Given the description of an element on the screen output the (x, y) to click on. 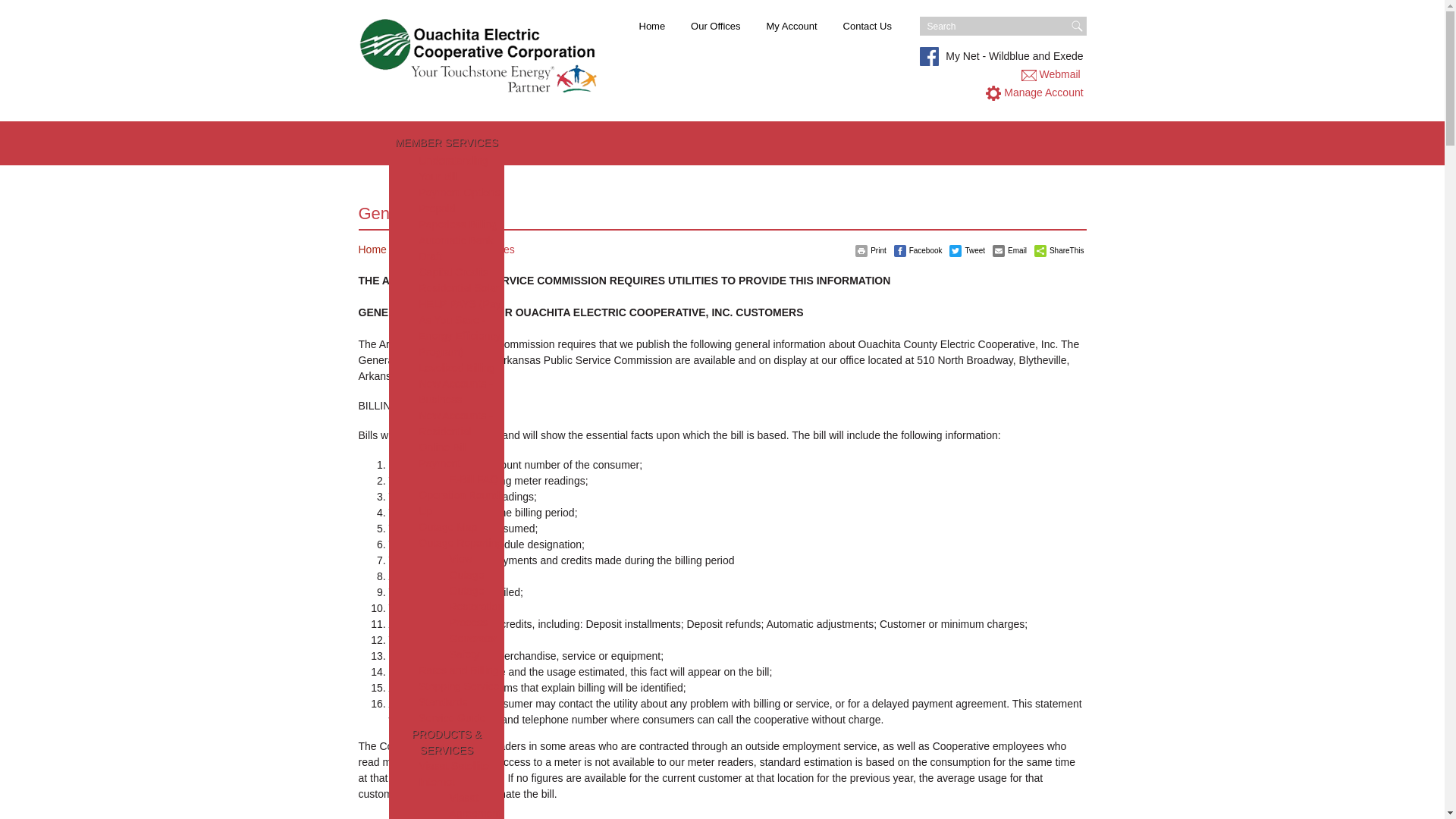
Outage Reporting (460, 542)
Our Offices (715, 25)
View Outage (465, 566)
MEMBER SERVICES (445, 142)
Prepaid (436, 208)
Residential Solar (459, 287)
My Account (790, 25)
Ouachita Electric Cooperative Corporation (478, 57)
Standards Service Guide (451, 709)
Home (652, 25)
Generator Safety (472, 646)
Webmail (1059, 73)
Levelized Billing (457, 367)
Viasat Satellite Internet (453, 773)
Visit our Facebook page! (927, 61)
